Given the description of an element on the screen output the (x, y) to click on. 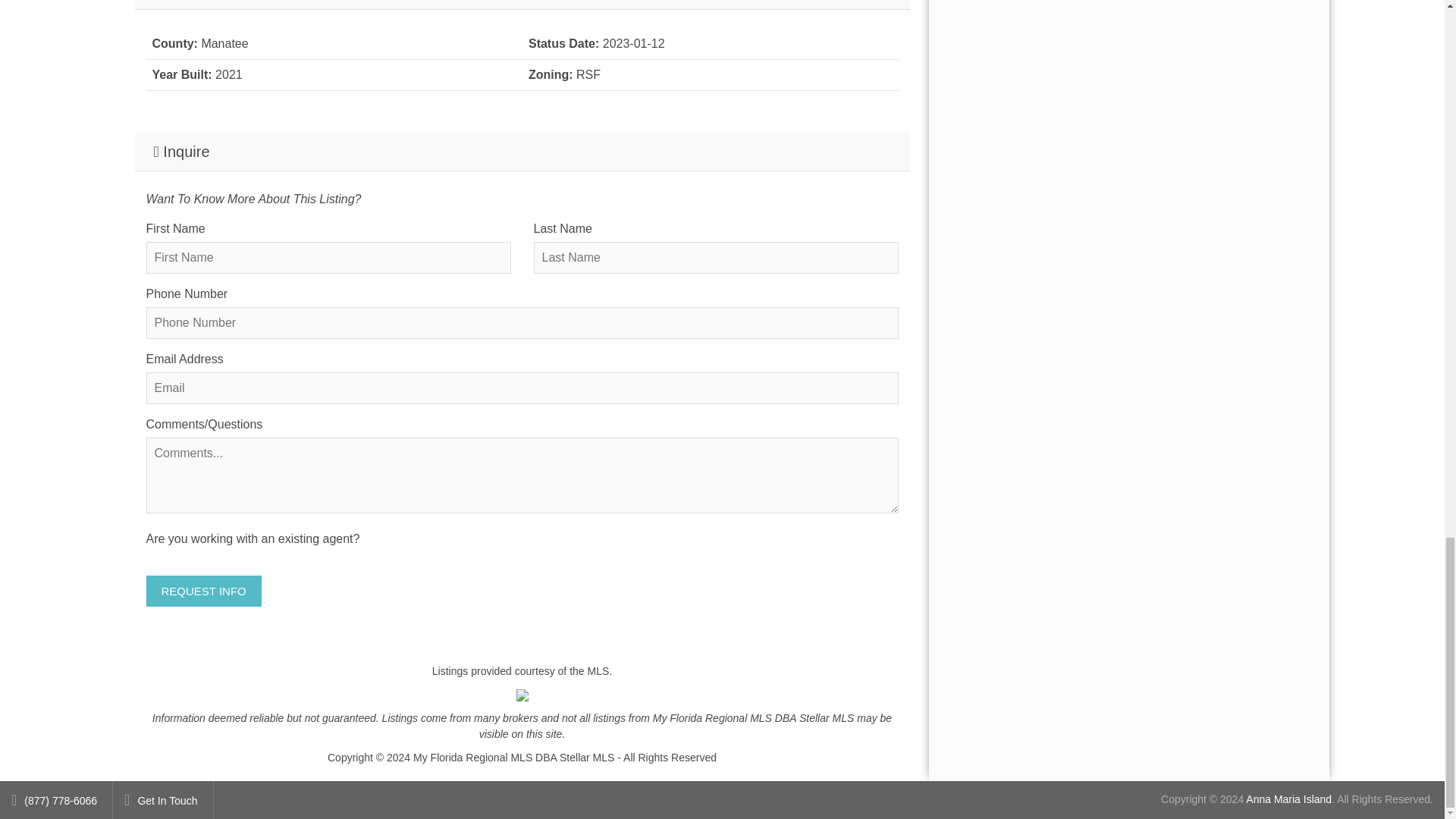
Request Info (202, 590)
